Given the description of an element on the screen output the (x, y) to click on. 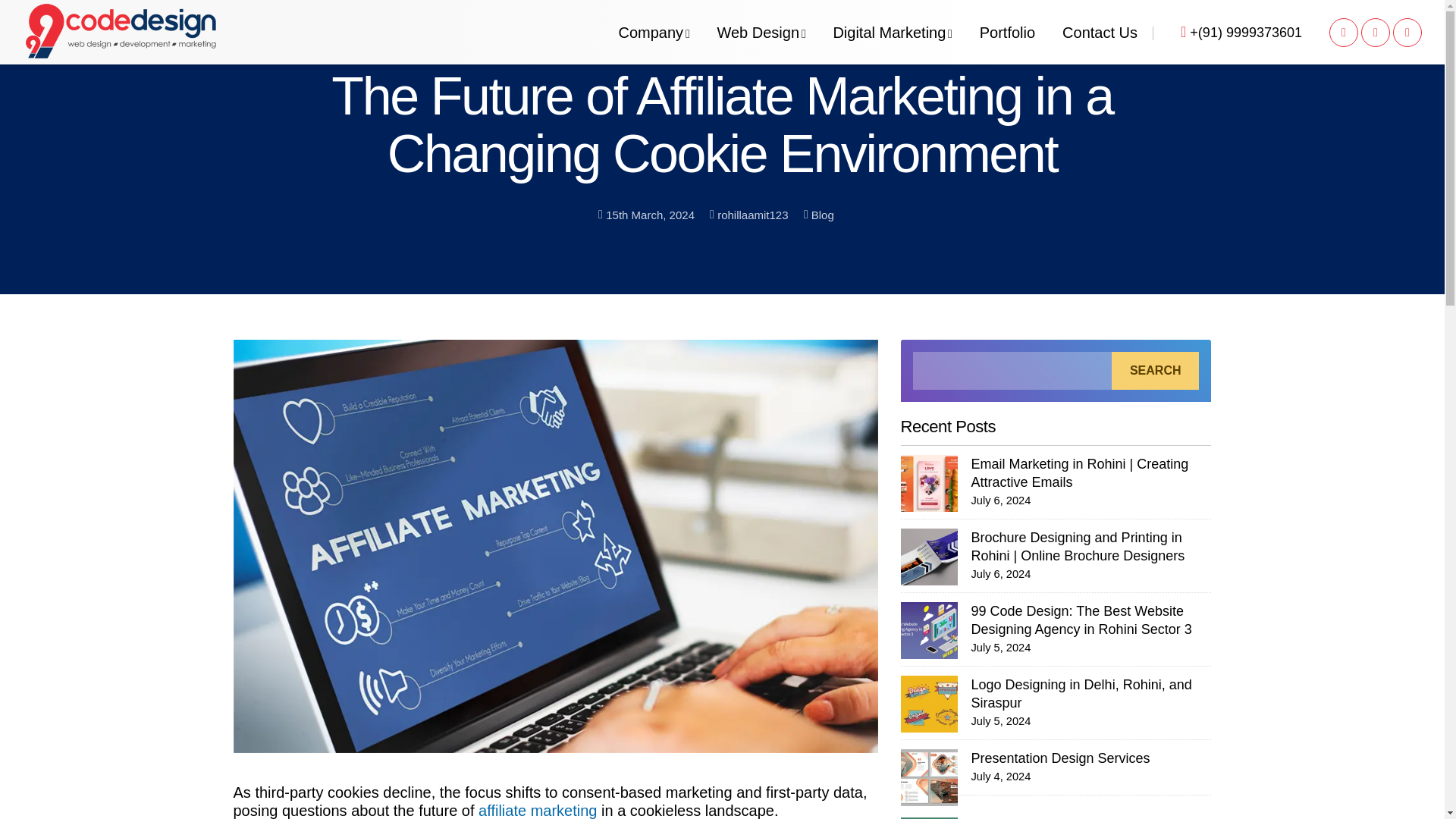
SEARCH (1155, 370)
Contact Us (580, 32)
instagram (1099, 31)
affiliate marketing (1407, 32)
LinkedIn (537, 810)
Blog (1375, 32)
Web Design (822, 216)
Digital Marketing (760, 22)
Facebook (892, 28)
